Given the description of an element on the screen output the (x, y) to click on. 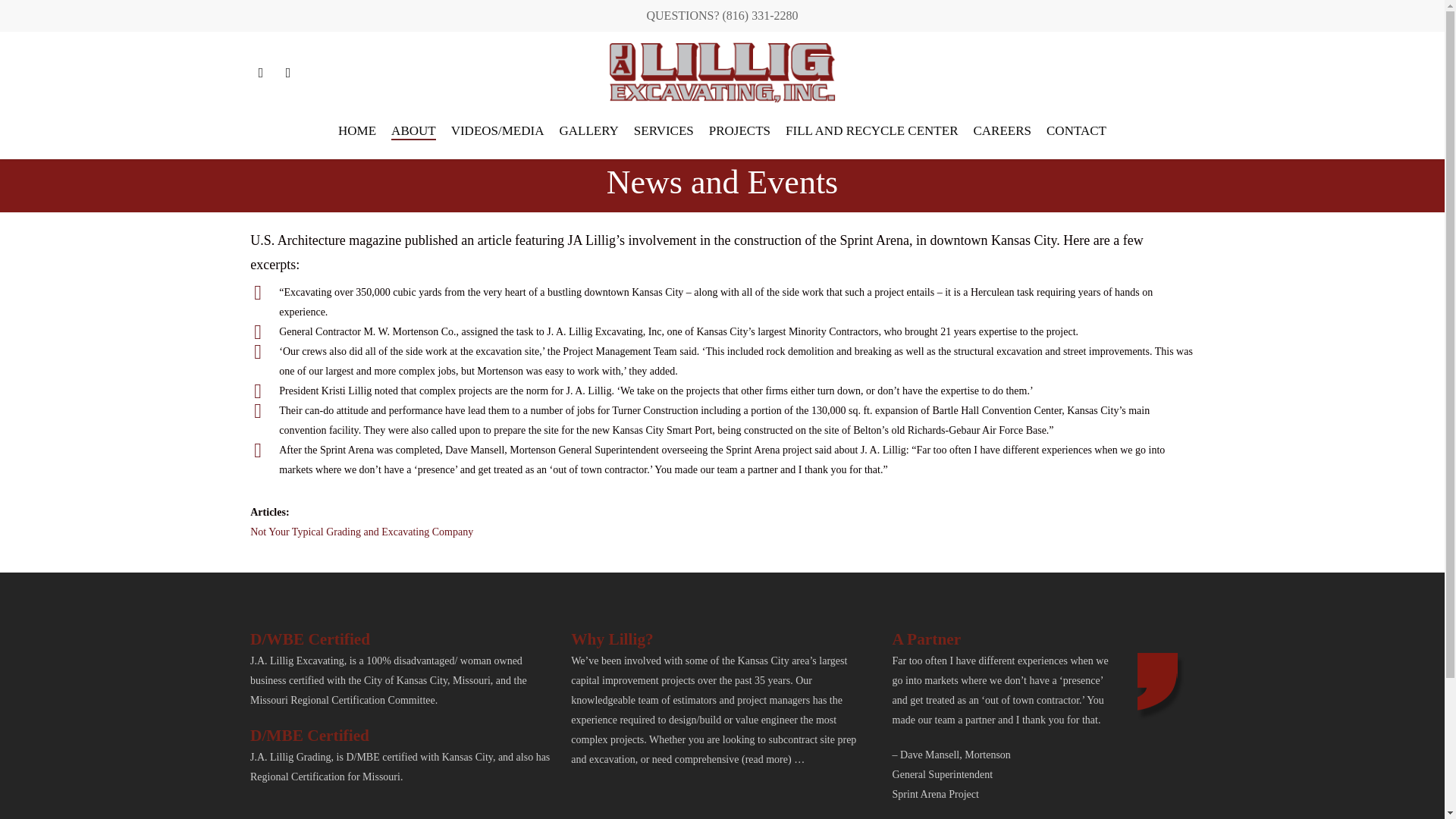
Excavating Kansas City (356, 140)
HOME (356, 140)
GALLERY (588, 140)
ABOUT (413, 140)
PROJECTS (739, 140)
CONTACT (1076, 140)
SERVICES (663, 140)
Lillig Story (361, 531)
FILL AND RECYCLE CENTER (872, 140)
Not Your Typical Grading and Excavating Company (361, 531)
CAREERS (1001, 140)
